Given the description of an element on the screen output the (x, y) to click on. 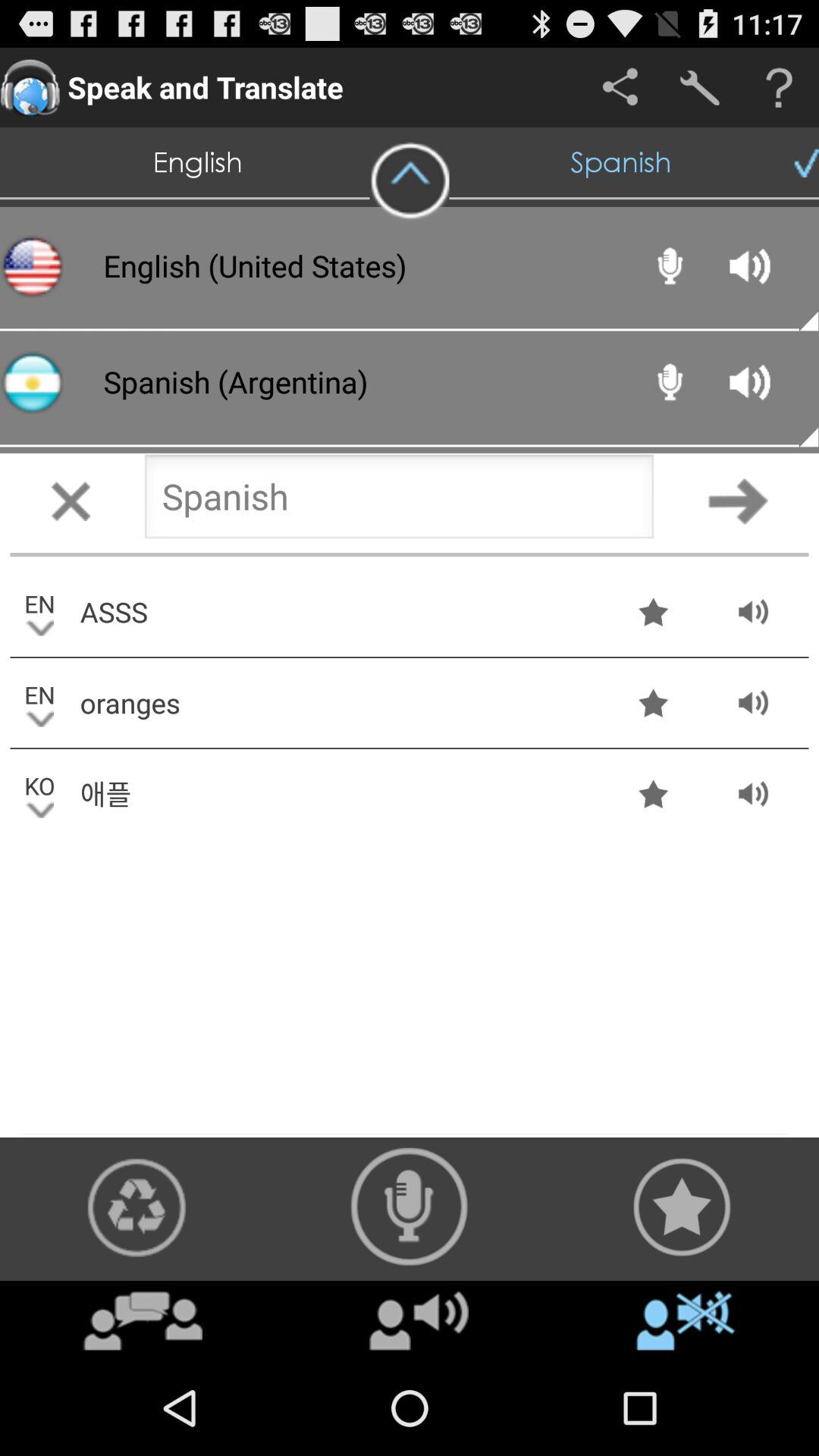
refresh (136, 1206)
